Given the description of an element on the screen output the (x, y) to click on. 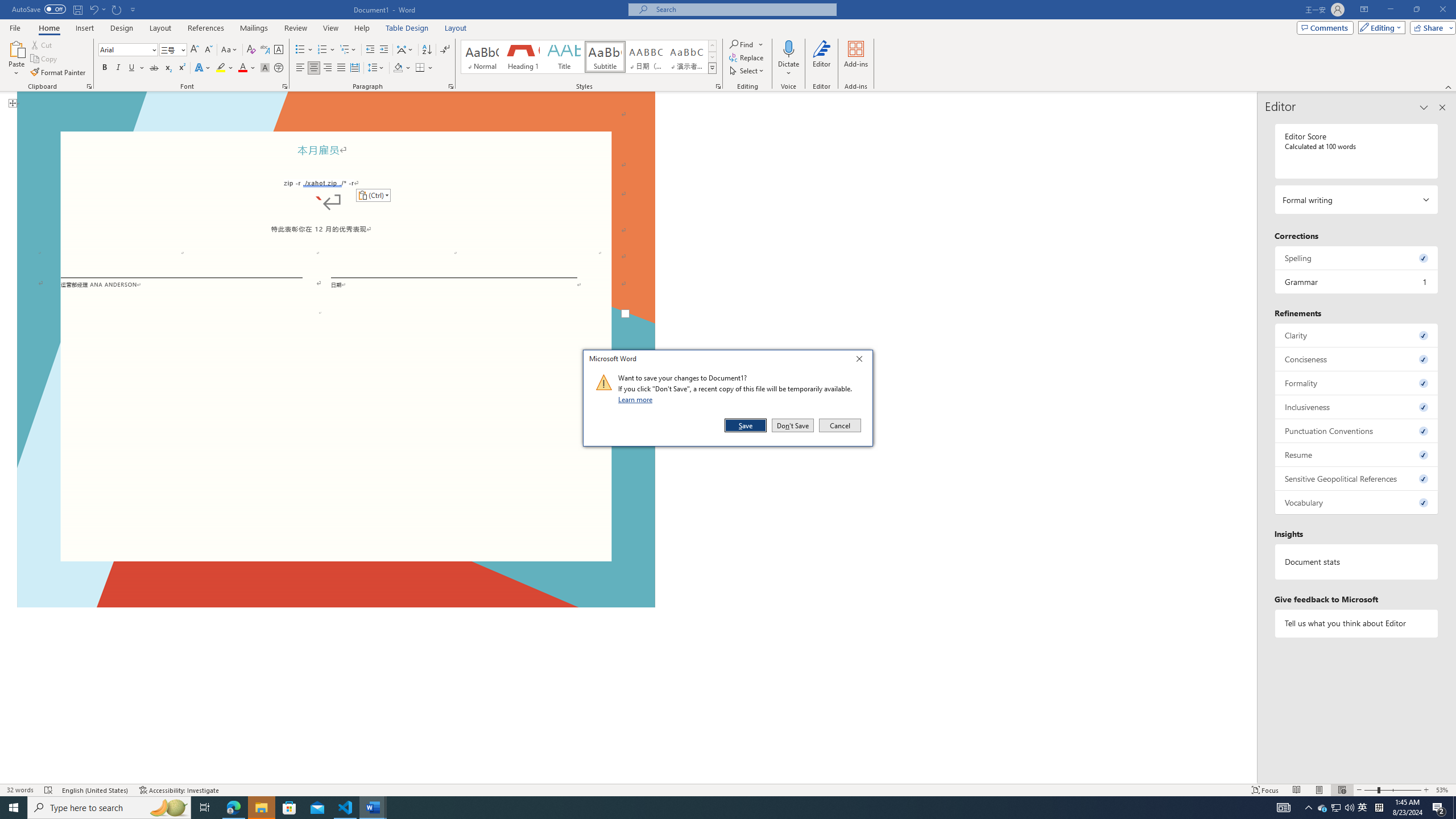
Start (13, 807)
Grammar, 1 issue. Press space or enter to review items. (1356, 281)
Increase Indent (383, 49)
Font (128, 49)
Spelling, 0 issues. Press space or enter to review items. (1356, 257)
AutomationID: QuickStylesGallery (588, 56)
Grow Font (193, 49)
Editing (1379, 27)
Subscript (167, 67)
Copy (45, 58)
Undo Paste (96, 9)
Find (746, 44)
Text Highlight Color Yellow (220, 67)
Conciseness, 0 issues. Press space or enter to review items. (1356, 359)
